Given the description of an element on the screen output the (x, y) to click on. 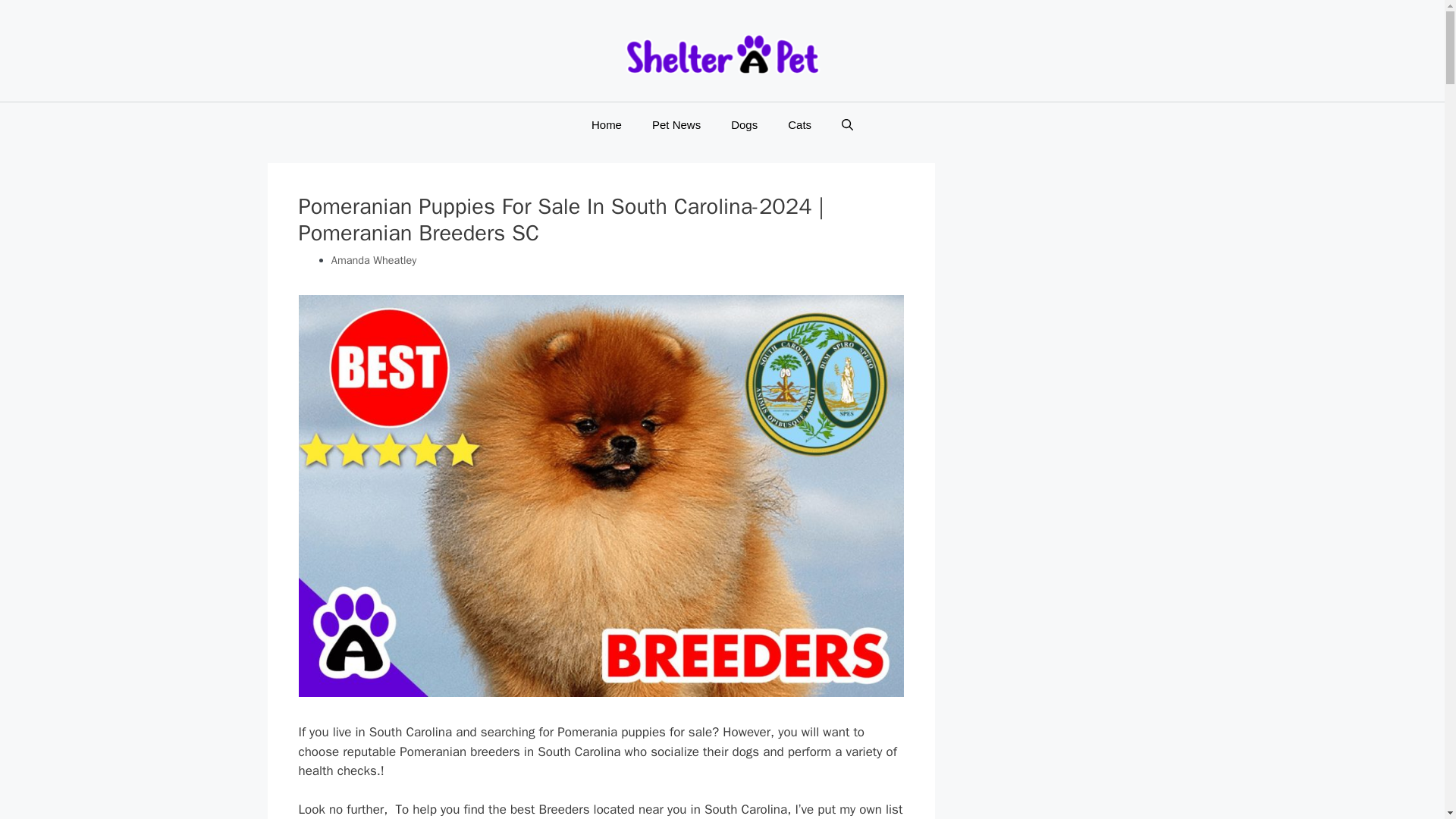
The Pet Guide Home (722, 53)
Amanda Wheatley (373, 259)
Amanda Wheatley (373, 259)
Pet News (676, 125)
The Pet Guide Home (722, 54)
Cats (800, 125)
Home (606, 125)
Dogs (744, 125)
